Given the description of an element on the screen output the (x, y) to click on. 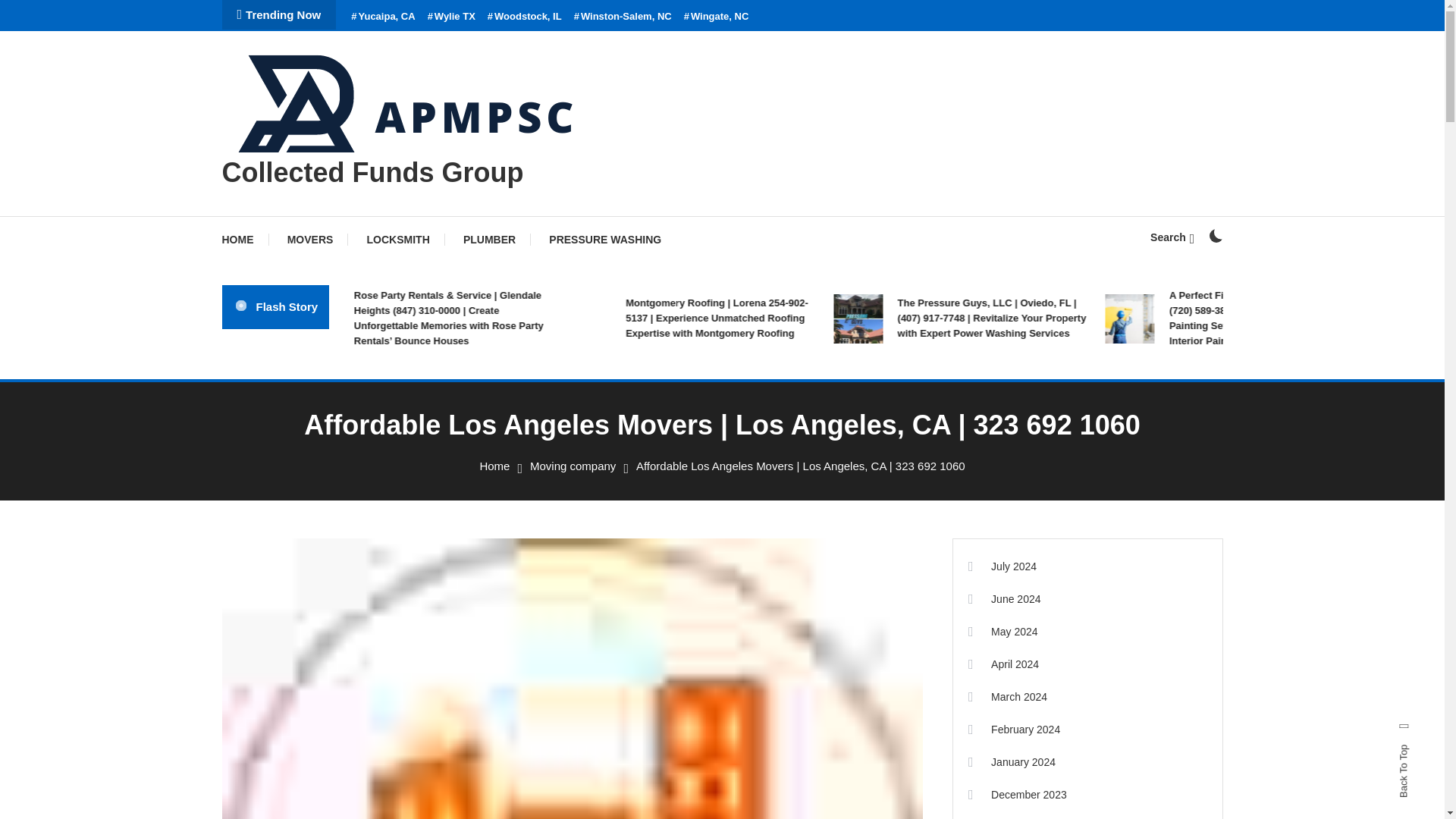
LOCKSMITH (398, 239)
Wingate, NC (716, 16)
Yucaipa, CA (382, 16)
MOVERS (310, 239)
Woodstock, IL (524, 16)
Winston-Salem, NC (622, 16)
Wylie TX (452, 16)
Moving company (572, 465)
Search (1171, 236)
PRESSURE WASHING (605, 239)
HOME (244, 239)
Home (494, 465)
on (1215, 235)
Collected Funds Group (371, 172)
PLUMBER (489, 239)
